Given the description of an element on the screen output the (x, y) to click on. 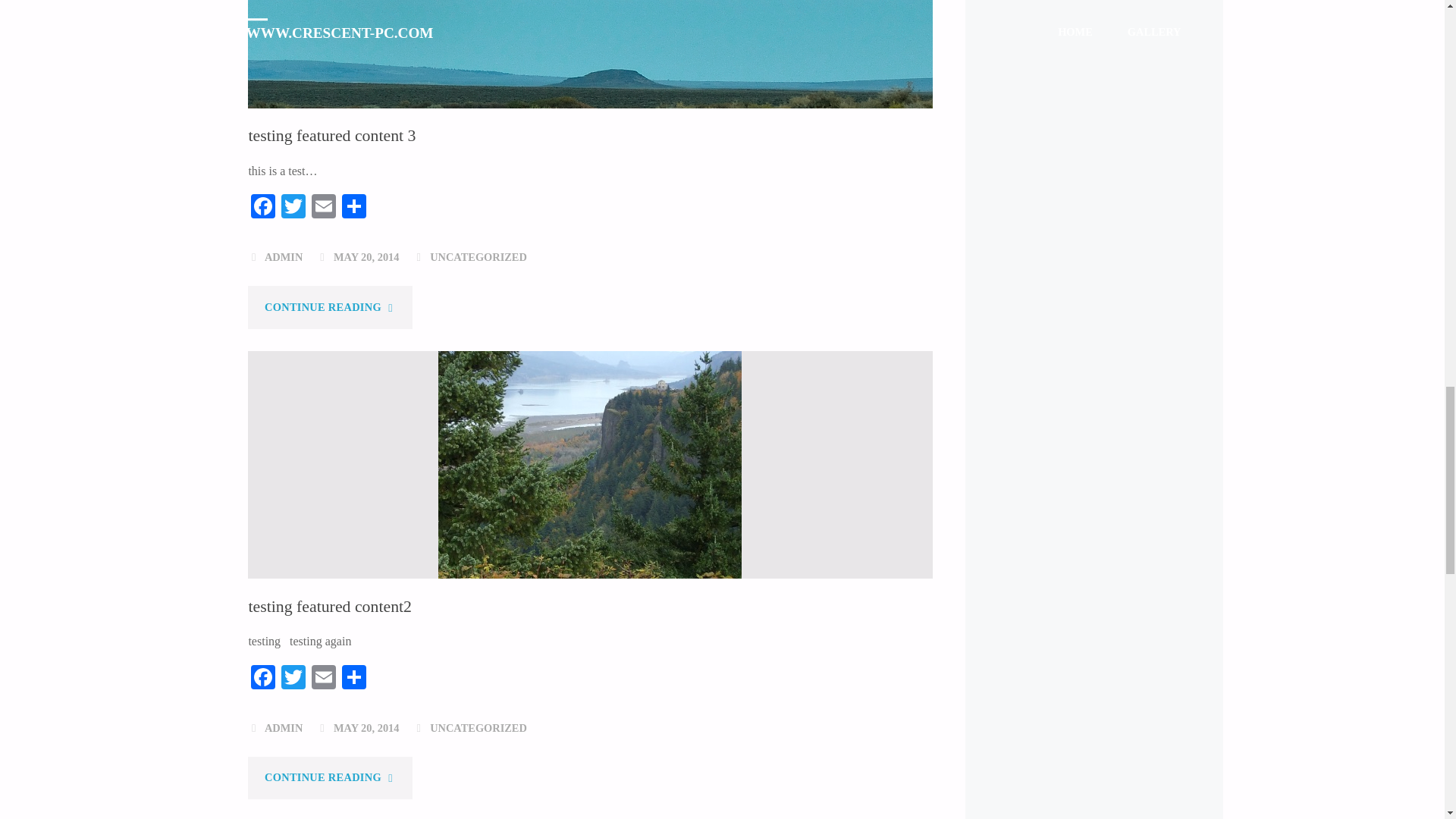
Facebook (262, 207)
UNCATEGORIZED (478, 256)
Email (323, 207)
testing featured content 3 (330, 135)
ADMIN (283, 256)
Twitter (293, 207)
